Given the description of an element on the screen output the (x, y) to click on. 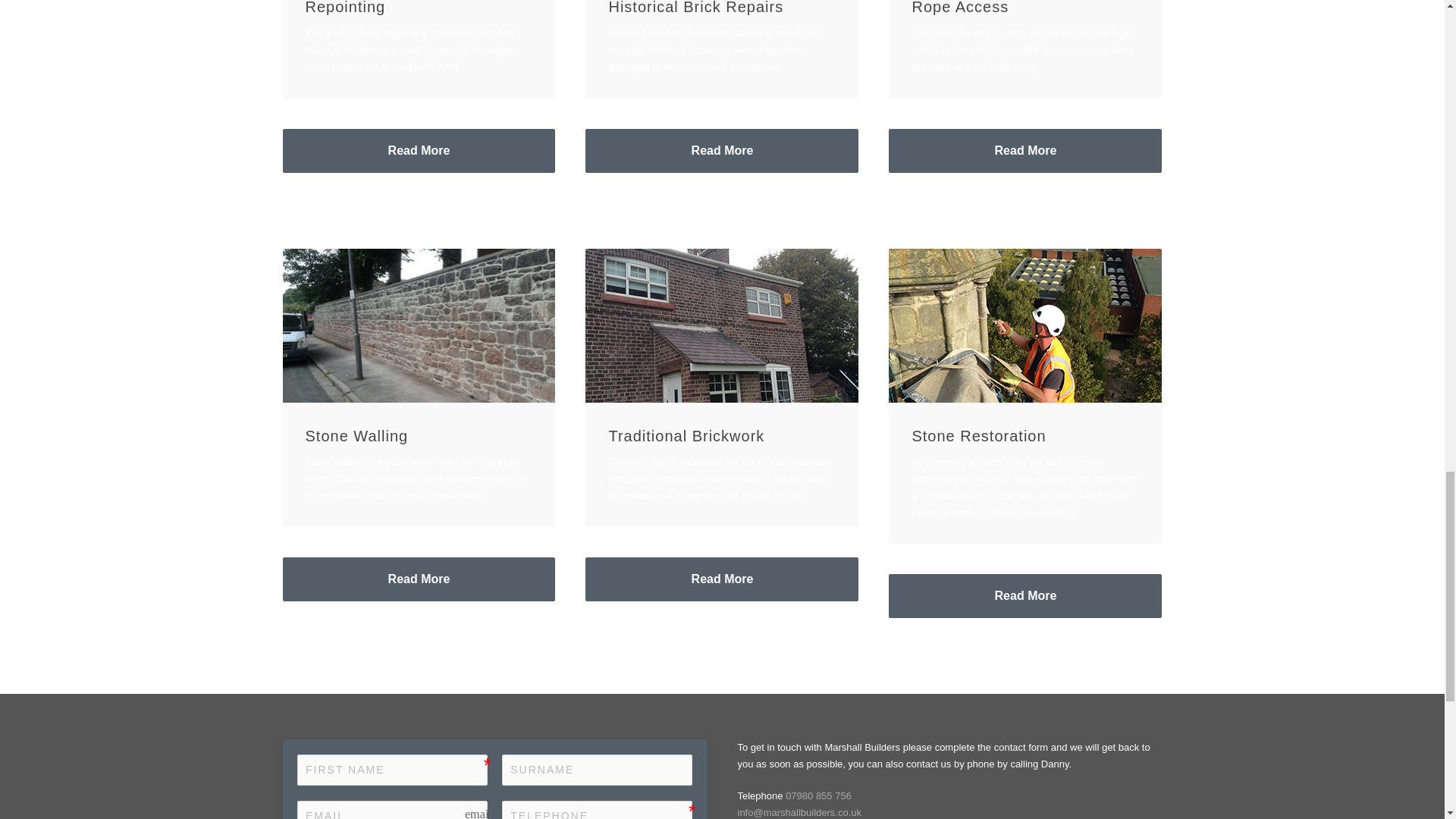
Read More (418, 150)
Historical Brick Repairs (695, 7)
Repointing (344, 7)
Read More (722, 150)
